Given the description of an element on the screen output the (x, y) to click on. 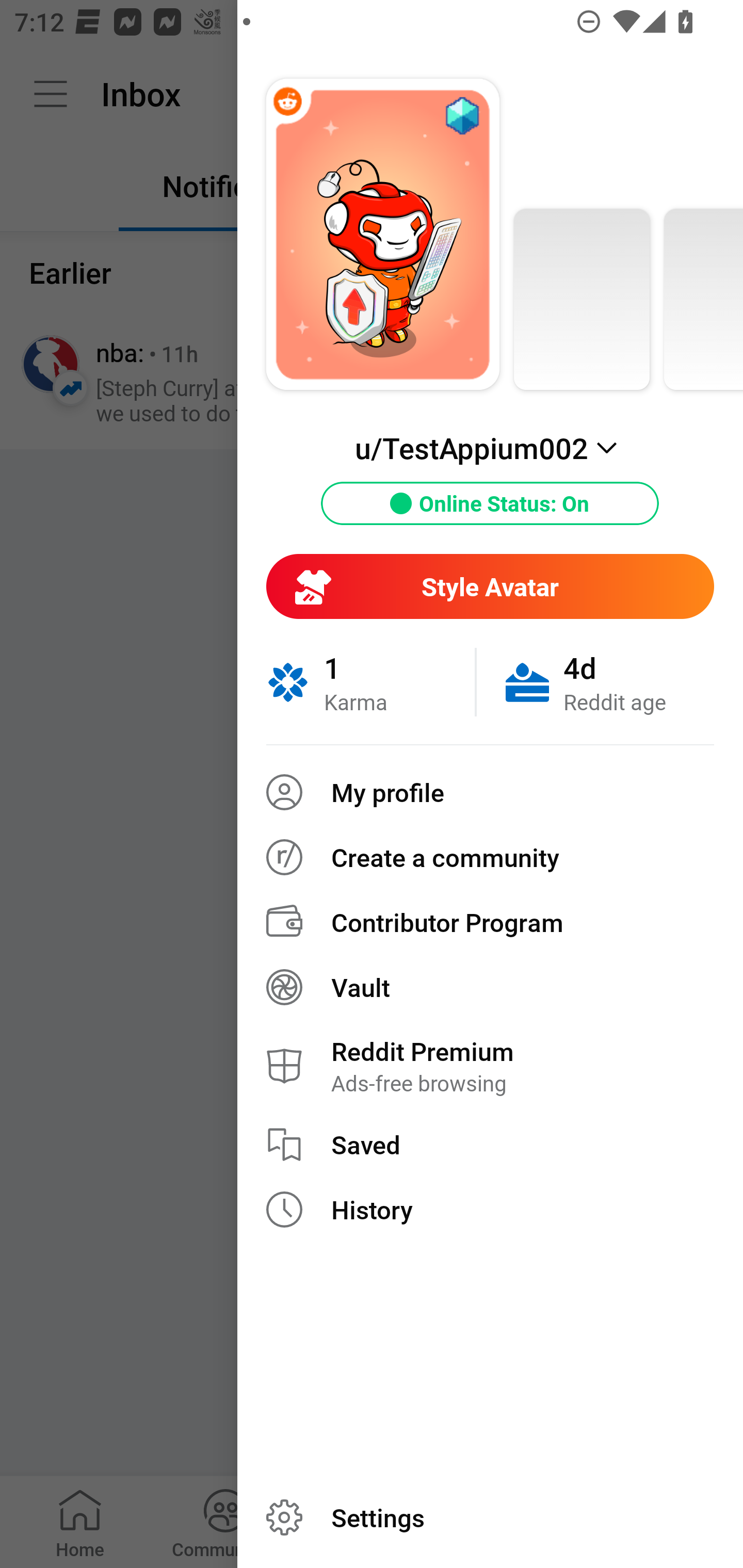
u/TestAppium002 (489, 447)
Online Status: On (489, 503)
Style Avatar (489, 586)
1 Karma 1 Karma (369, 681)
My profile (490, 792)
Create a community (490, 856)
Contributor Program (490, 921)
Vault (490, 986)
Saved (490, 1144)
History (490, 1209)
Settings (490, 1517)
